Given the description of an element on the screen output the (x, y) to click on. 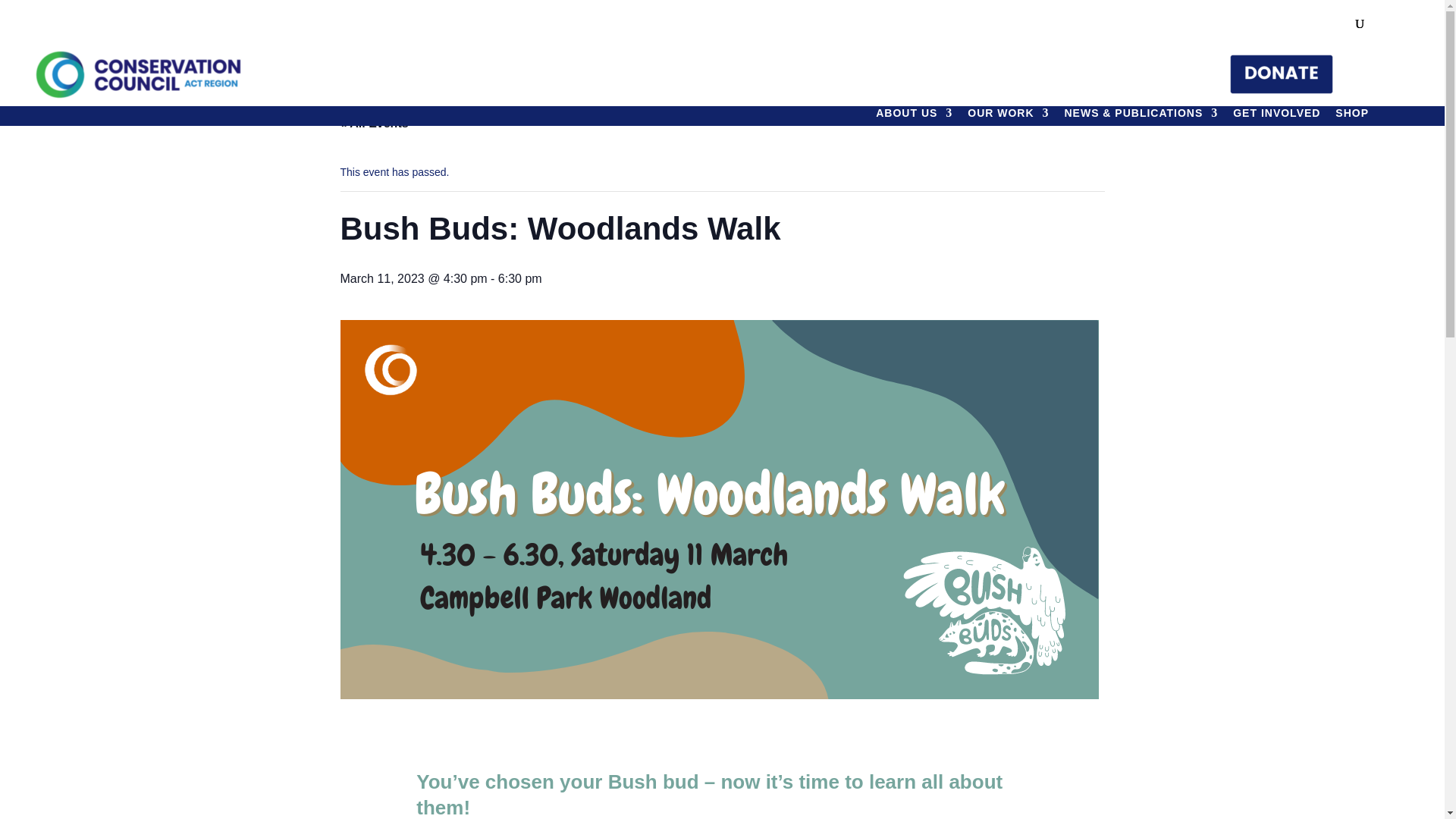
GET INVOLVED (1276, 116)
SHOP (1351, 116)
OUR WORK (1008, 116)
ABOUT US (914, 116)
